Given the description of an element on the screen output the (x, y) to click on. 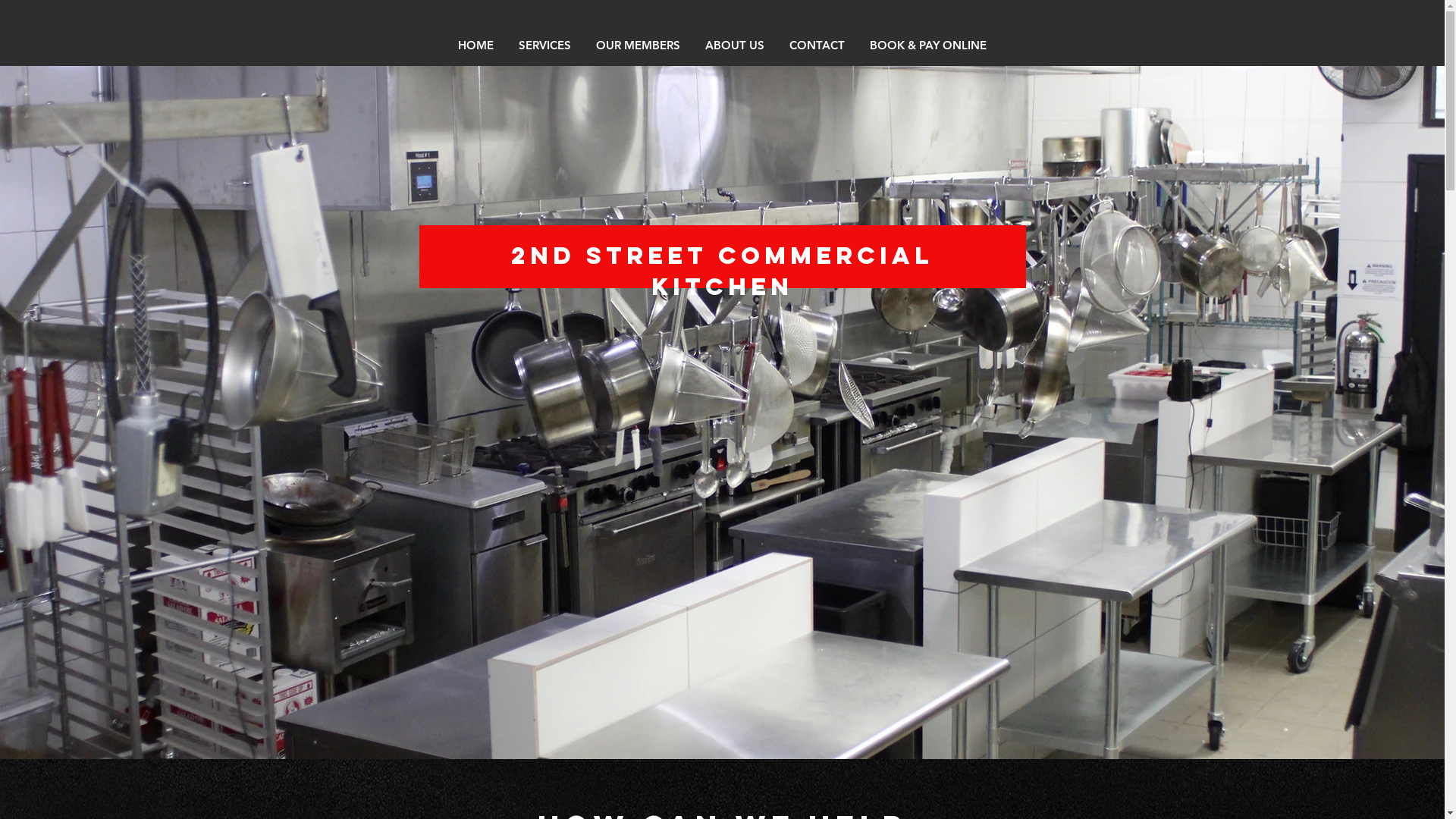
HOME Element type: text (475, 45)
SERVICES Element type: text (544, 45)
ABOUT US Element type: text (735, 45)
OUR MEMBERS Element type: text (638, 45)
BOOK & PAY ONLINE Element type: text (927, 45)
CONTACT Element type: text (816, 45)
